Given the description of an element on the screen output the (x, y) to click on. 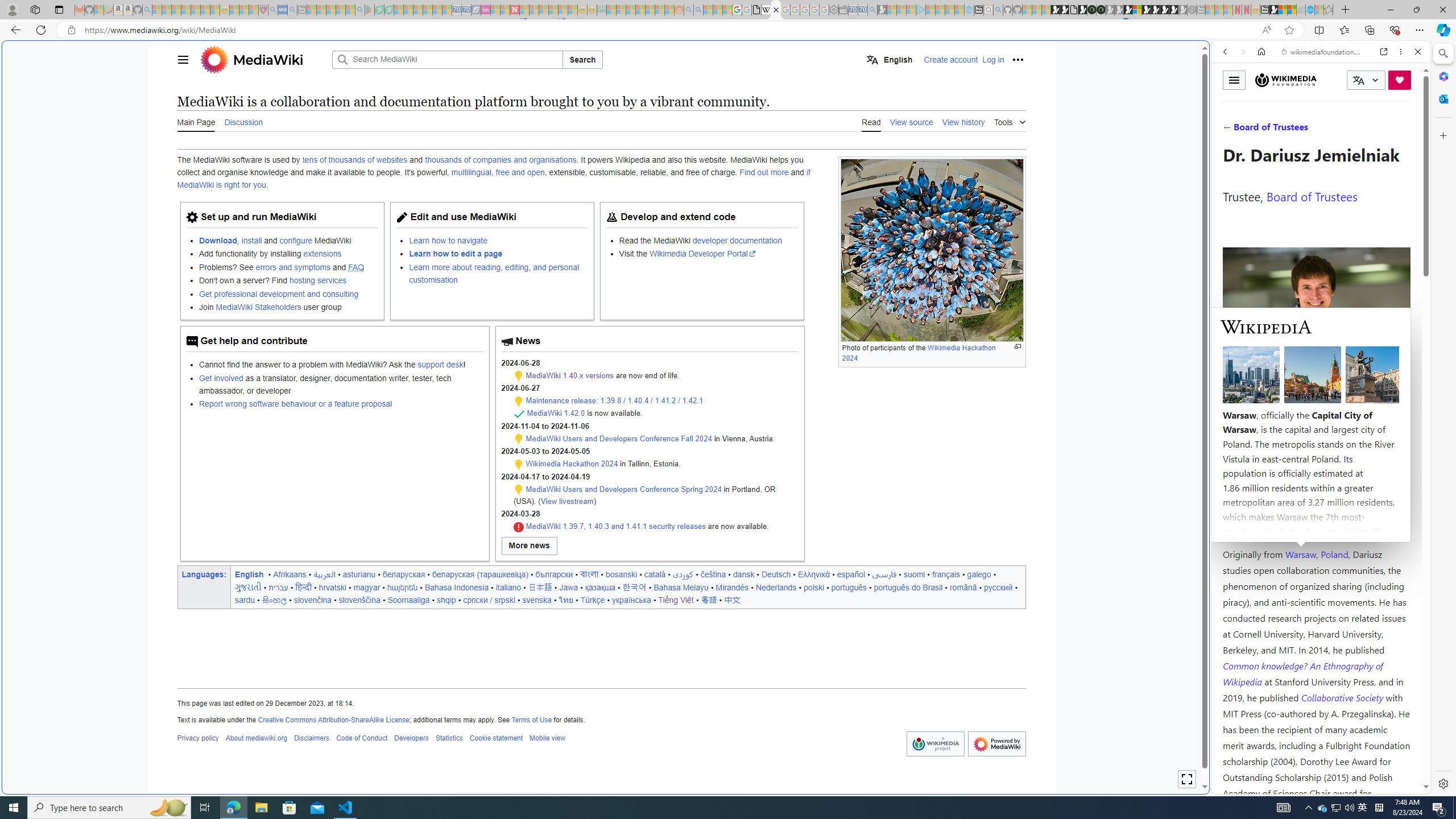
Visit the Wikimedia Developer Portal (707, 253)
Discussion (243, 121)
Disclaimers (311, 738)
Soomaaliga (408, 599)
utah sues federal government - Search (922, 389)
hosting services (317, 280)
free and open (519, 172)
MediaWiki Users and Developers Conference Spring 2024 (623, 488)
sardu (244, 599)
